Given the description of an element on the screen output the (x, y) to click on. 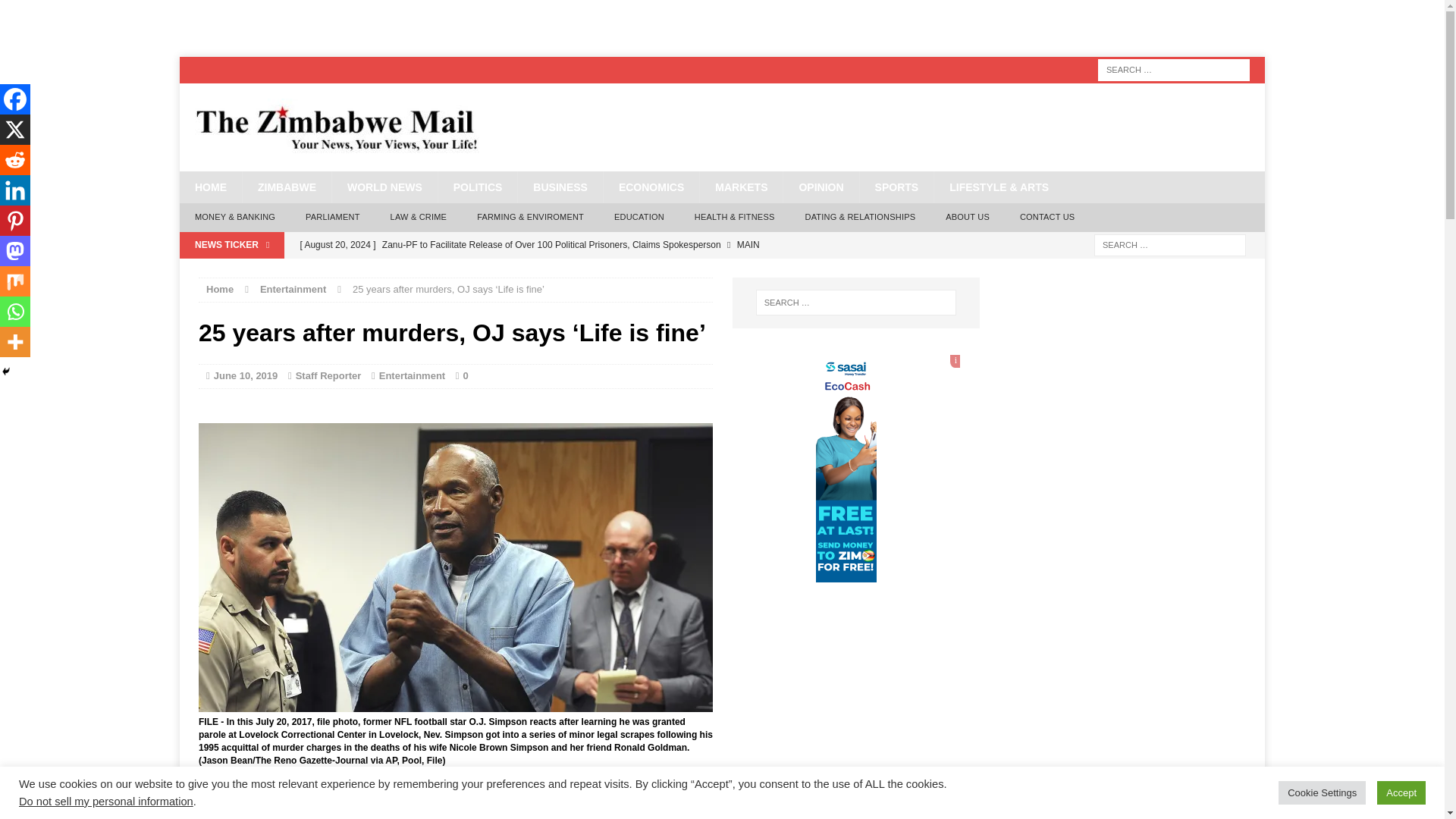
SPORTS (896, 187)
Search (37, 11)
POLITICS (478, 187)
MARKETS (740, 187)
OPINION (821, 187)
ABOUT US (967, 217)
Facebook (213, 811)
Mix (390, 811)
X (243, 811)
